Given the description of an element on the screen output the (x, y) to click on. 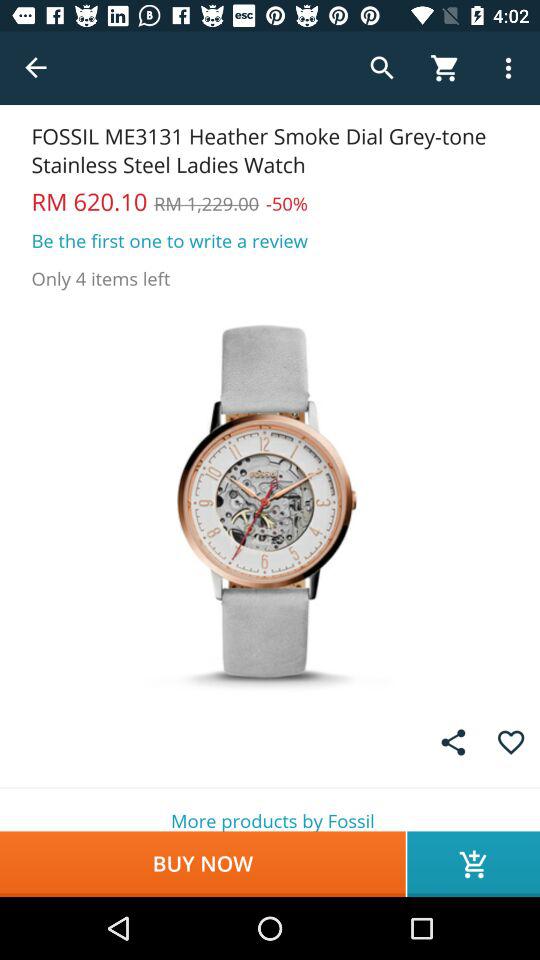
turn off be the first item (169, 240)
